Given the description of an element on the screen output the (x, y) to click on. 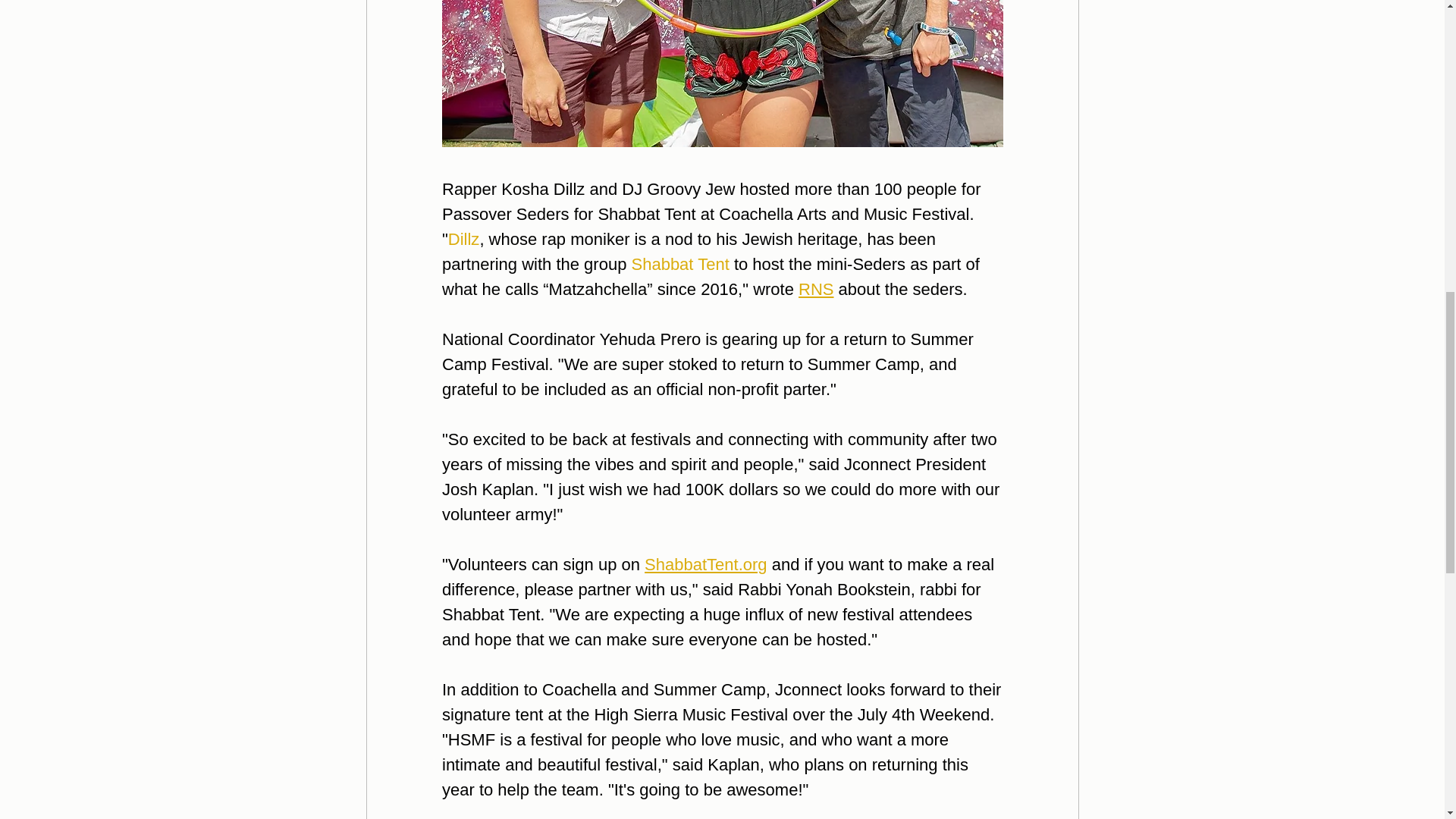
Shabbat Tent (679, 263)
RNS (814, 289)
Dillz (462, 239)
ShabbatTent.org (706, 564)
